Given the description of an element on the screen output the (x, y) to click on. 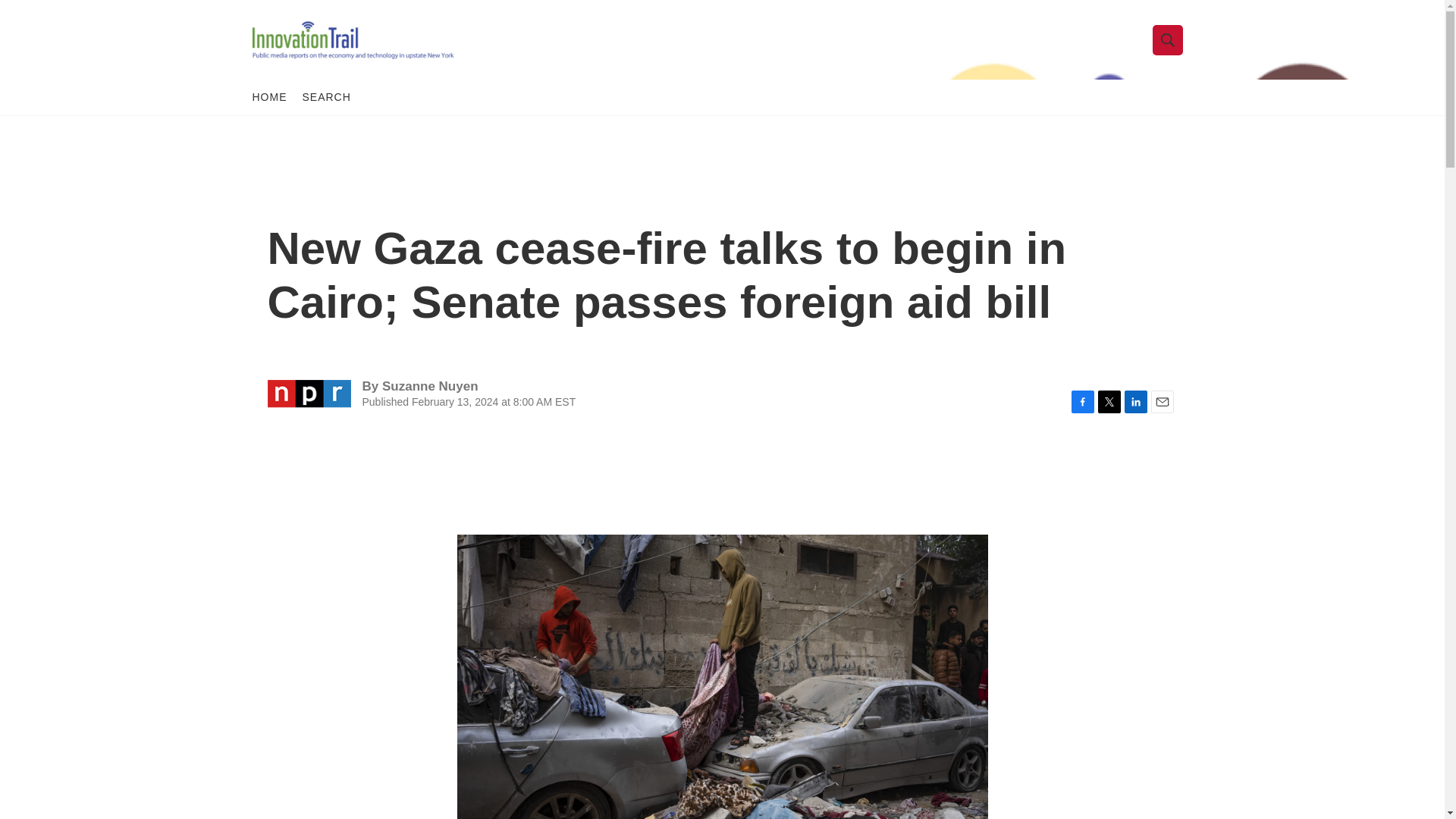
Facebook (1081, 401)
Twitter (1109, 401)
HOME (268, 97)
LinkedIn (1135, 401)
Show Search (1167, 39)
Email (1162, 401)
SEARCH (325, 97)
